Given the description of an element on the screen output the (x, y) to click on. 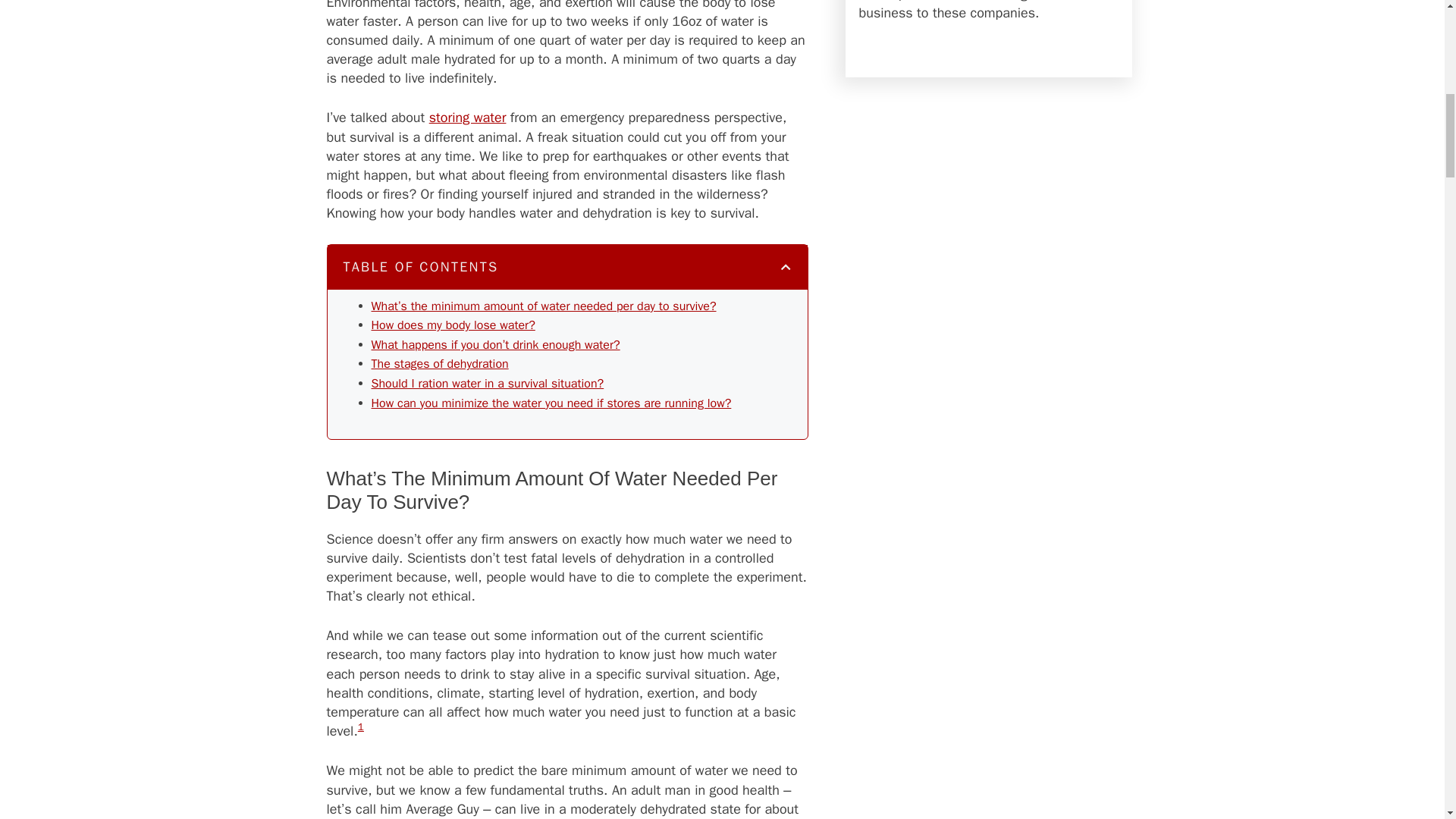
storing water (467, 117)
TABLE OF CONTENTS (567, 266)
How does my body lose water? (453, 324)
The stages of dehydration (439, 363)
Should I ration water in a survival situation? (487, 383)
